Given the description of an element on the screen output the (x, y) to click on. 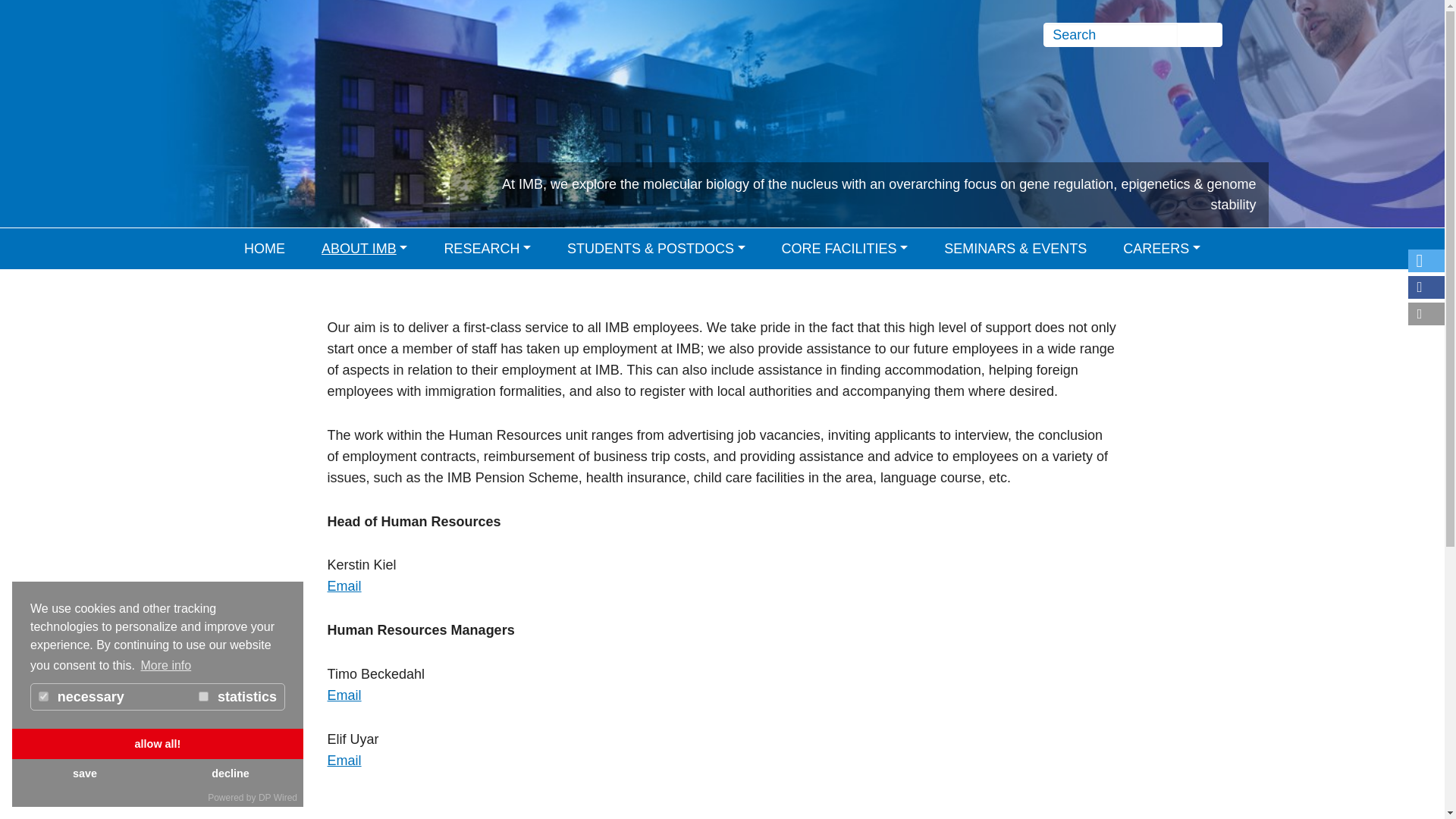
Opens window for sending email (344, 585)
Go to homepage (254, 63)
Opens window for sending email (344, 694)
Logo (254, 63)
